Given the description of an element on the screen output the (x, y) to click on. 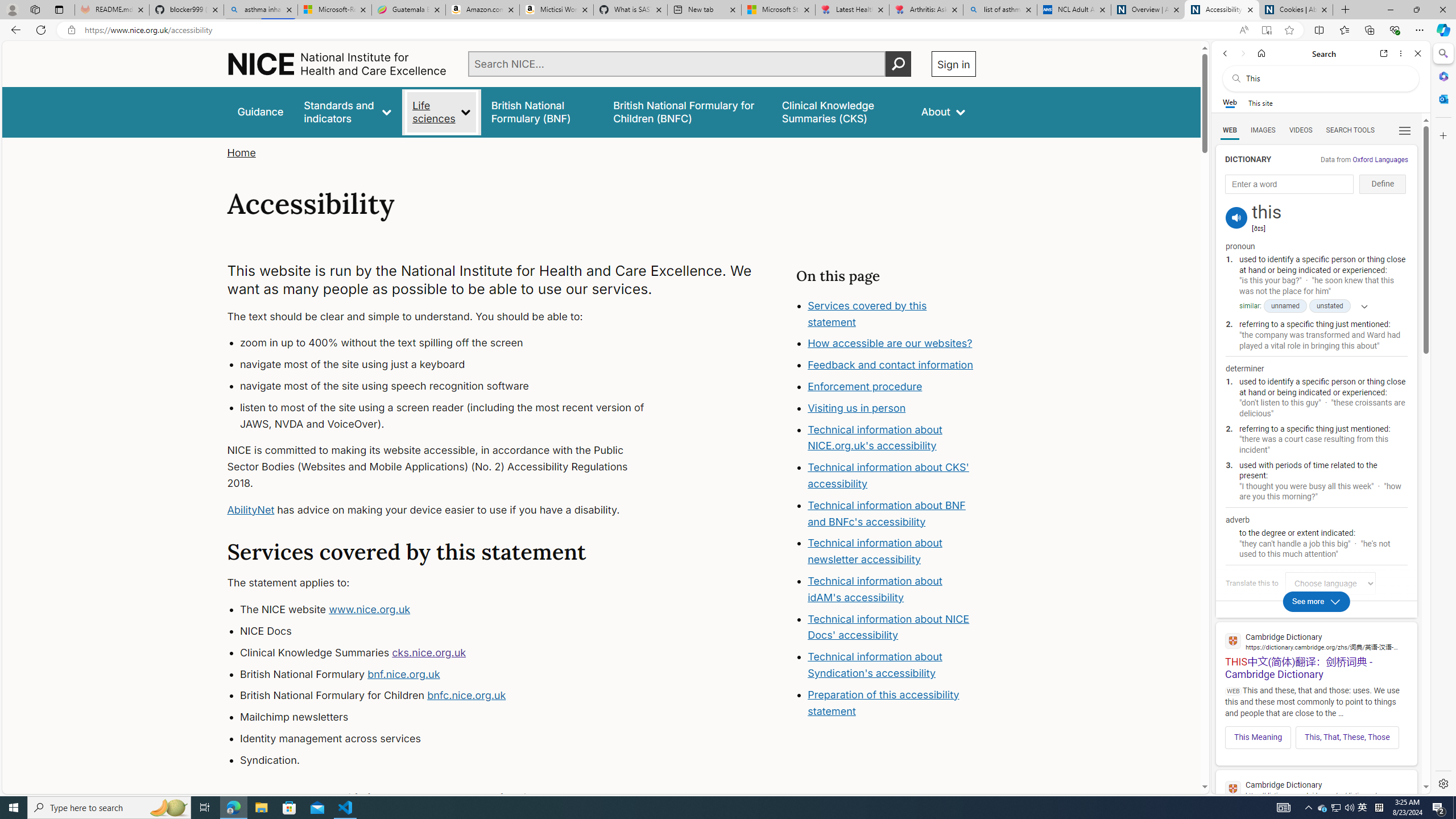
Define (1382, 184)
zoom in up to 400% without the text spilling off the screen (452, 343)
British National Formulary for Children bnfc.nice.org.uk (452, 695)
